Given the description of an element on the screen output the (x, y) to click on. 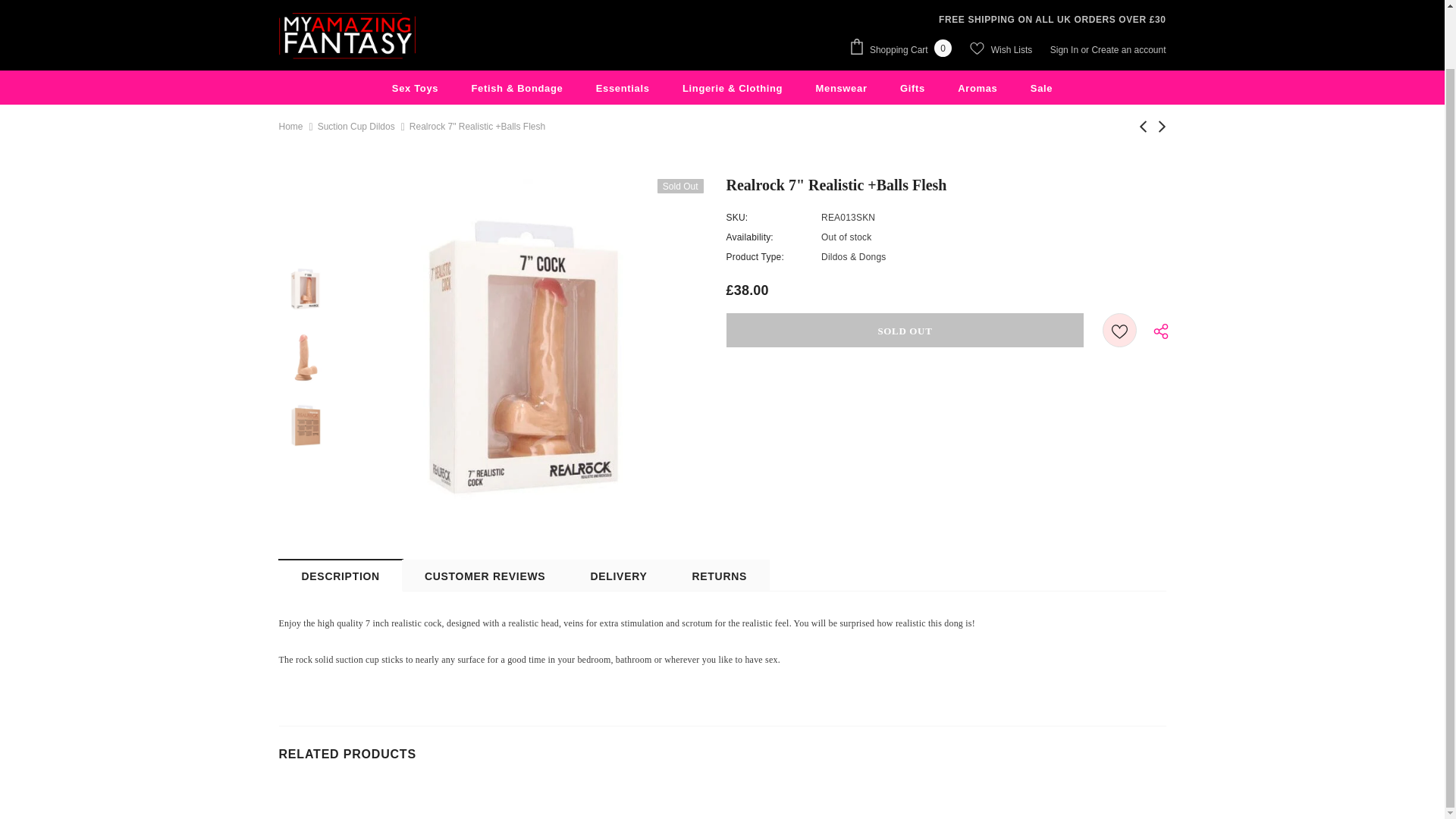
Logo (346, 35)
Create an account (1128, 50)
Cart (903, 48)
Shopping Cart 0 (903, 48)
Sign In (1065, 50)
Sex Toys (414, 87)
My Wish Lists (1000, 49)
Wish Lists (1000, 49)
Menswear (841, 87)
Essentials (622, 87)
Sold Out (905, 329)
